Given the description of an element on the screen output the (x, y) to click on. 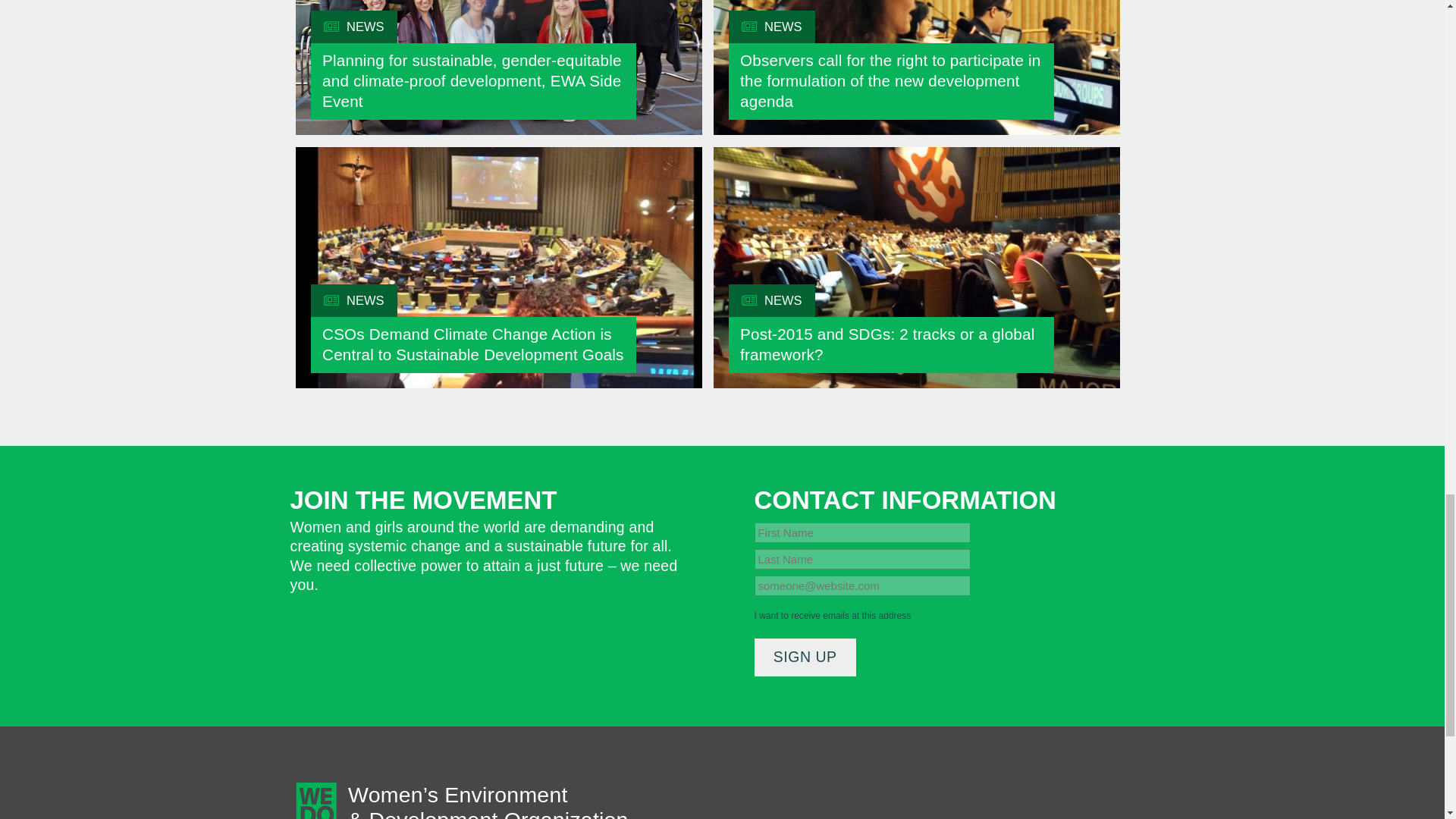
Sign up (805, 657)
